Given the description of an element on the screen output the (x, y) to click on. 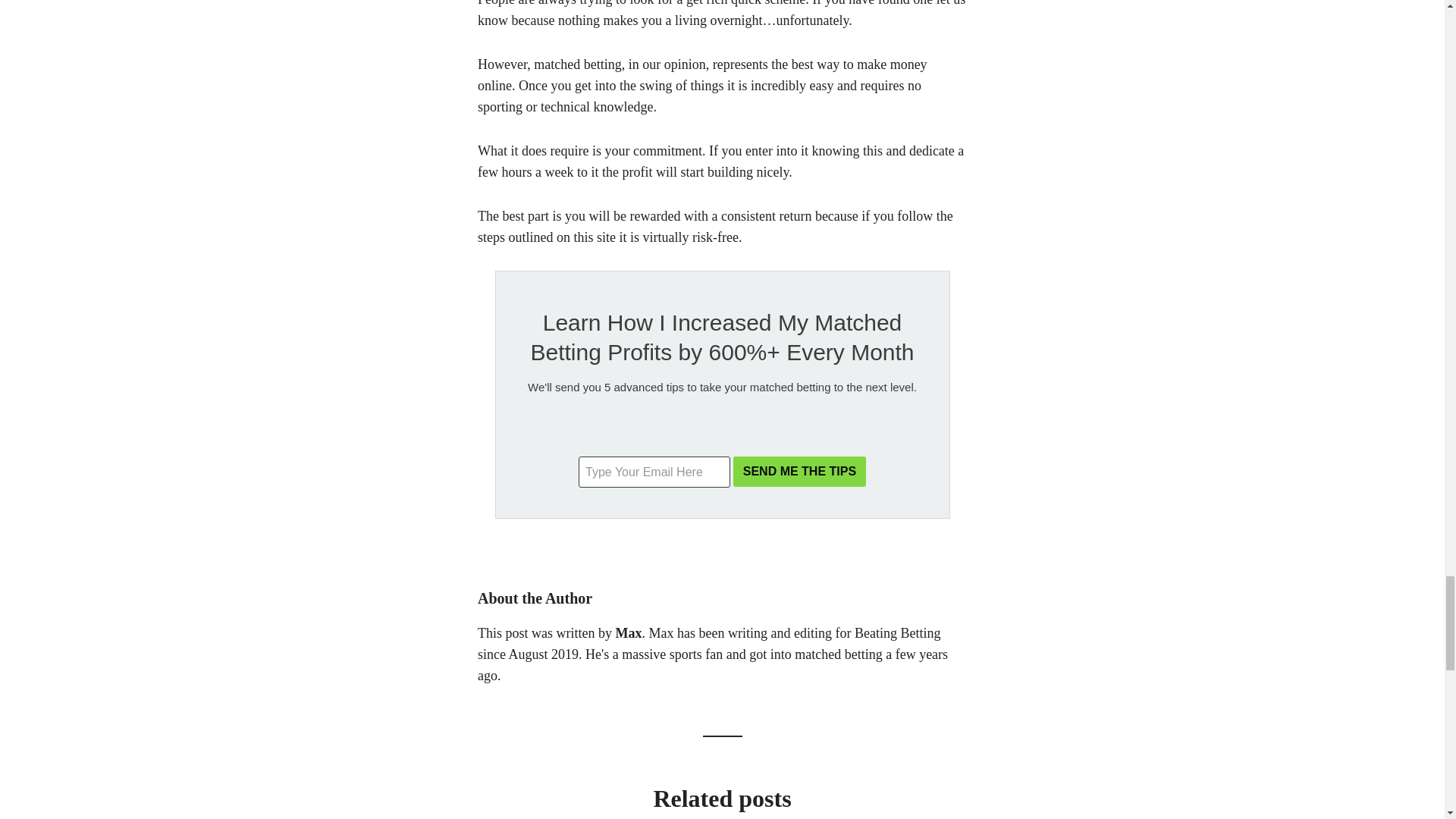
SEND ME THE TIPS (799, 471)
SEND ME THE TIPS (799, 471)
